Given the description of an element on the screen output the (x, y) to click on. 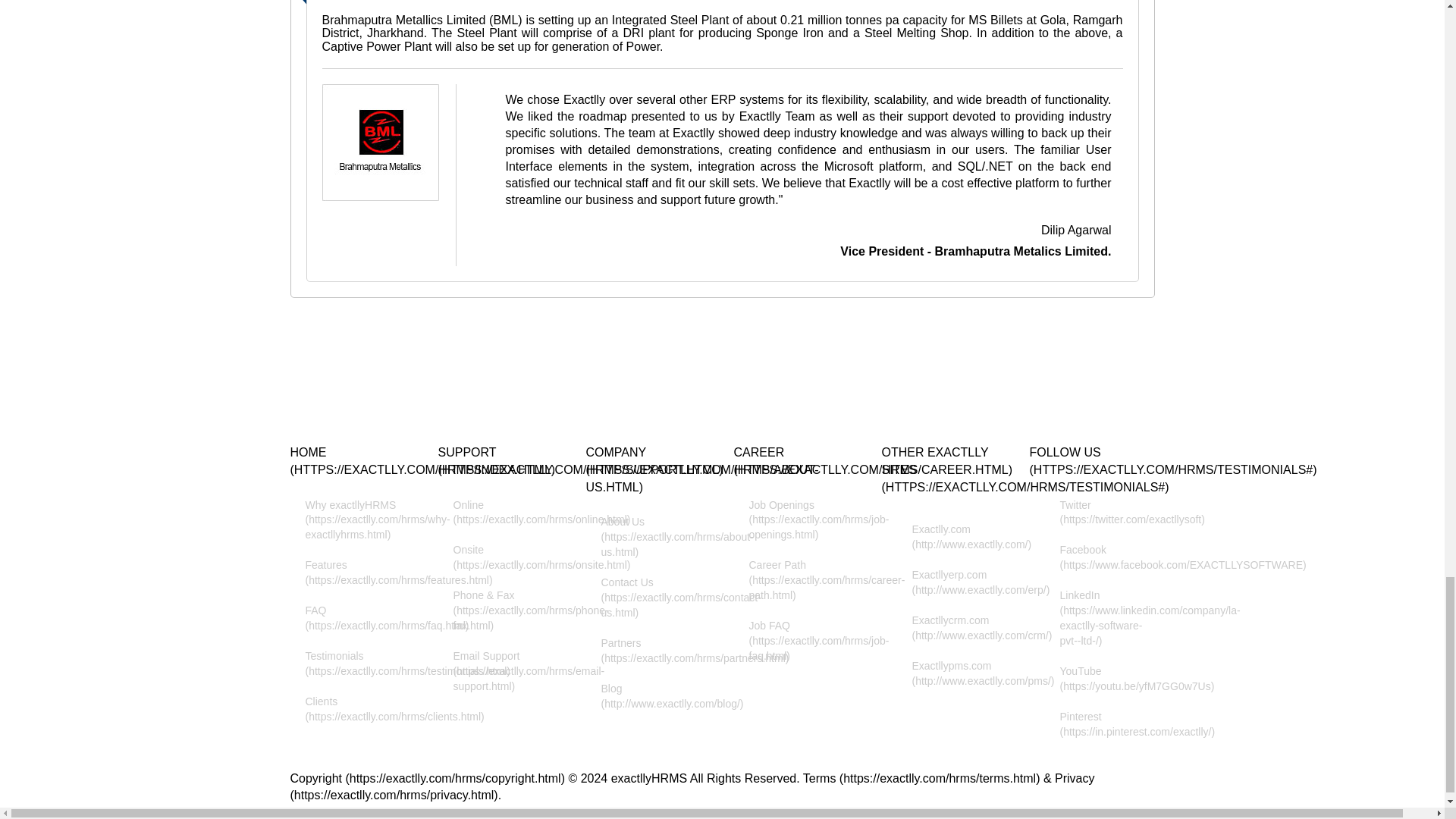
Features (351, 580)
CAREER (872, 468)
Exactlly.com (943, 545)
Exactllyerp.com (943, 590)
Home (421, 468)
Onsite (500, 565)
SUPPORT (580, 468)
Email Support (500, 679)
Online (500, 520)
Exactllycrm.com (943, 636)
Why exactllyHRMS (351, 527)
Email Support (500, 679)
Onsite (500, 565)
Job Openings (796, 527)
Job FAQ (796, 649)
